Given the description of an element on the screen output the (x, y) to click on. 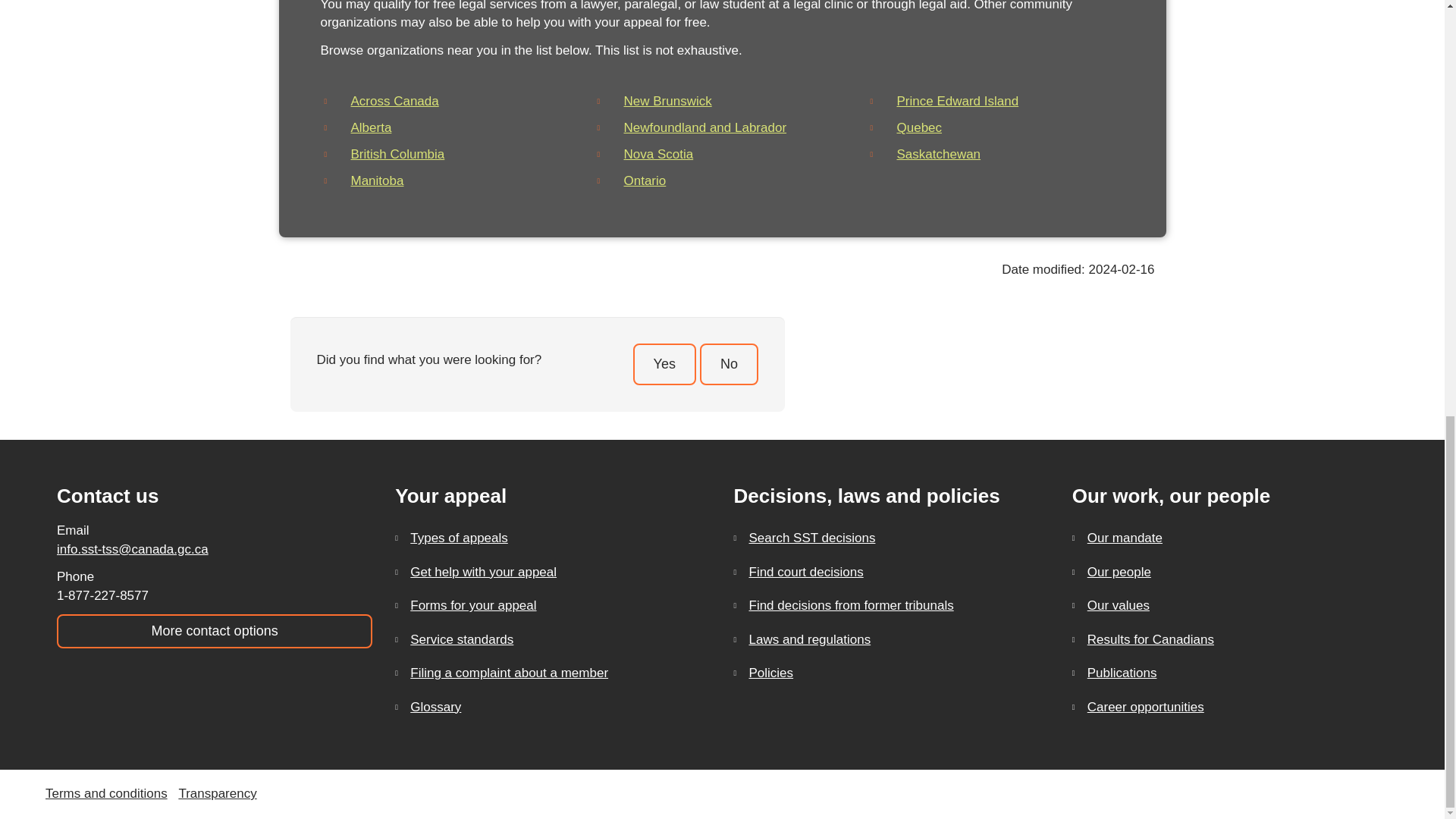
Nova Scotia (658, 154)
Manitoba (376, 180)
Ways to contact the Social Security Tribunal (214, 631)
Alberta (370, 127)
Across Canada (394, 101)
No (729, 363)
Saskatchewan (937, 154)
Quebec (919, 127)
New Brunswick (667, 101)
Prince Edward Island (956, 101)
